Given the description of an element on the screen output the (x, y) to click on. 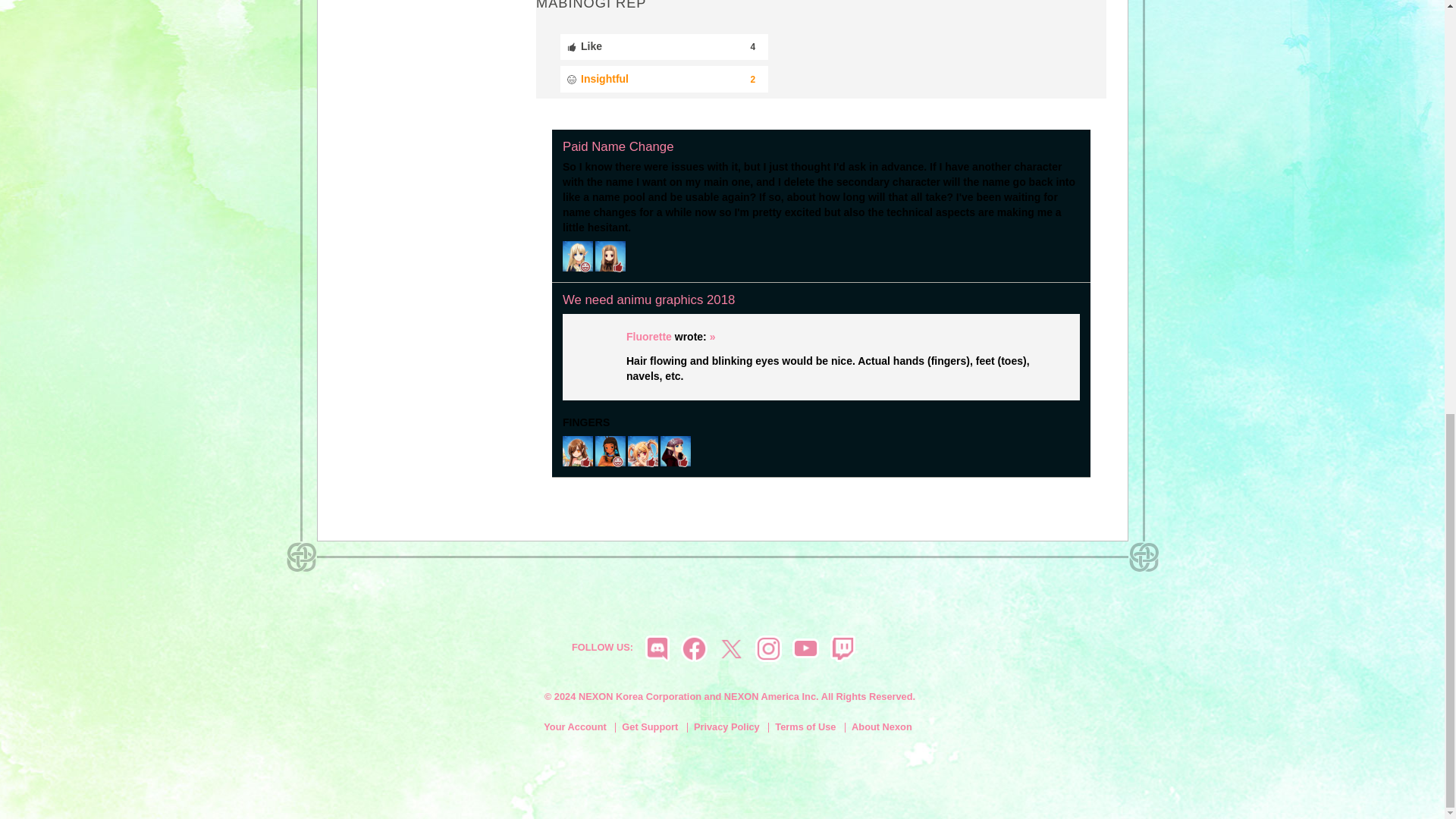
Insightful (664, 79)
Like (664, 46)
Sherri - Like on January 17, 2020. (610, 255)
Sherri (610, 255)
demonkiller1996 - Insightful on January 17, 2020. (577, 255)
demonkiller1996 (577, 255)
